Given the description of an element on the screen output the (x, y) to click on. 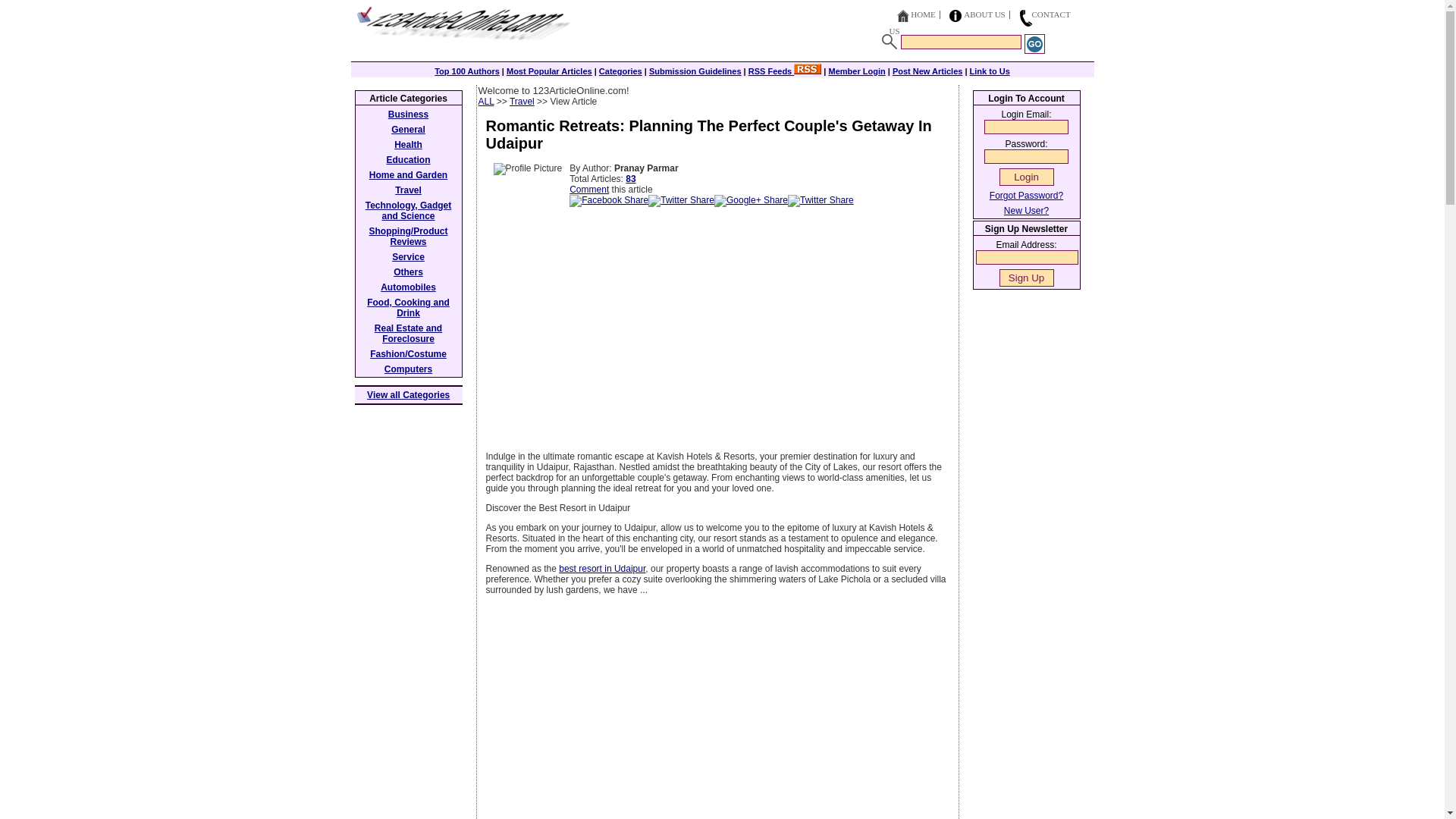
ALL (485, 101)
83 (630, 178)
Most Popular Articles (549, 71)
Top 100 Authors (466, 71)
Comment (588, 189)
best resort in Udaipur (602, 568)
Travel (521, 101)
Submission Guidelines (695, 71)
Categories (620, 71)
